Given the description of an element on the screen output the (x, y) to click on. 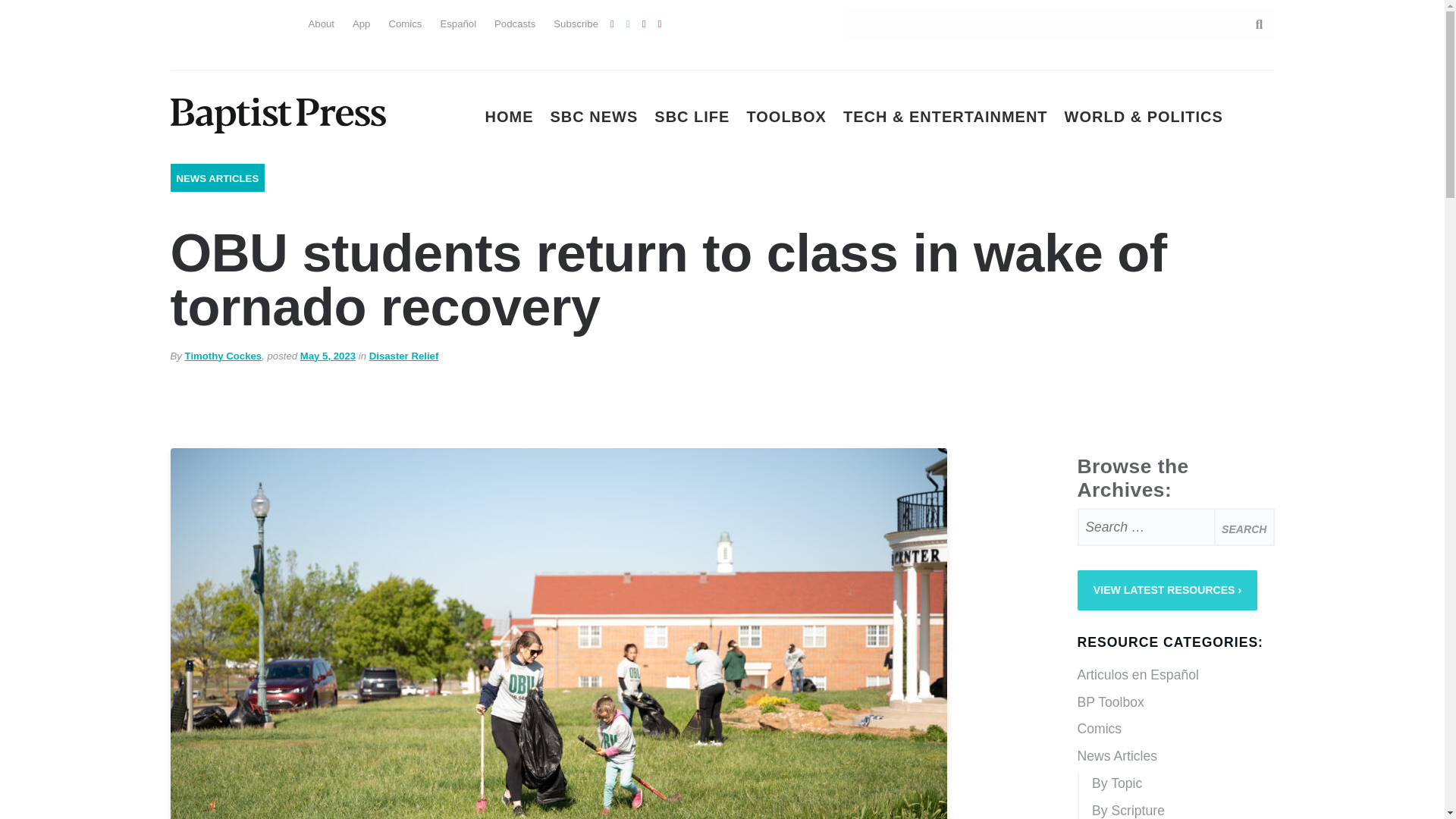
Search (1251, 24)
SBC LIFE (691, 116)
French (263, 21)
NEWS ARTICLES (217, 178)
About (320, 23)
May 5, 2023 (327, 355)
Podcasts (515, 23)
Subscribe (575, 23)
App (360, 23)
Search (1244, 526)
